Given the description of an element on the screen output the (x, y) to click on. 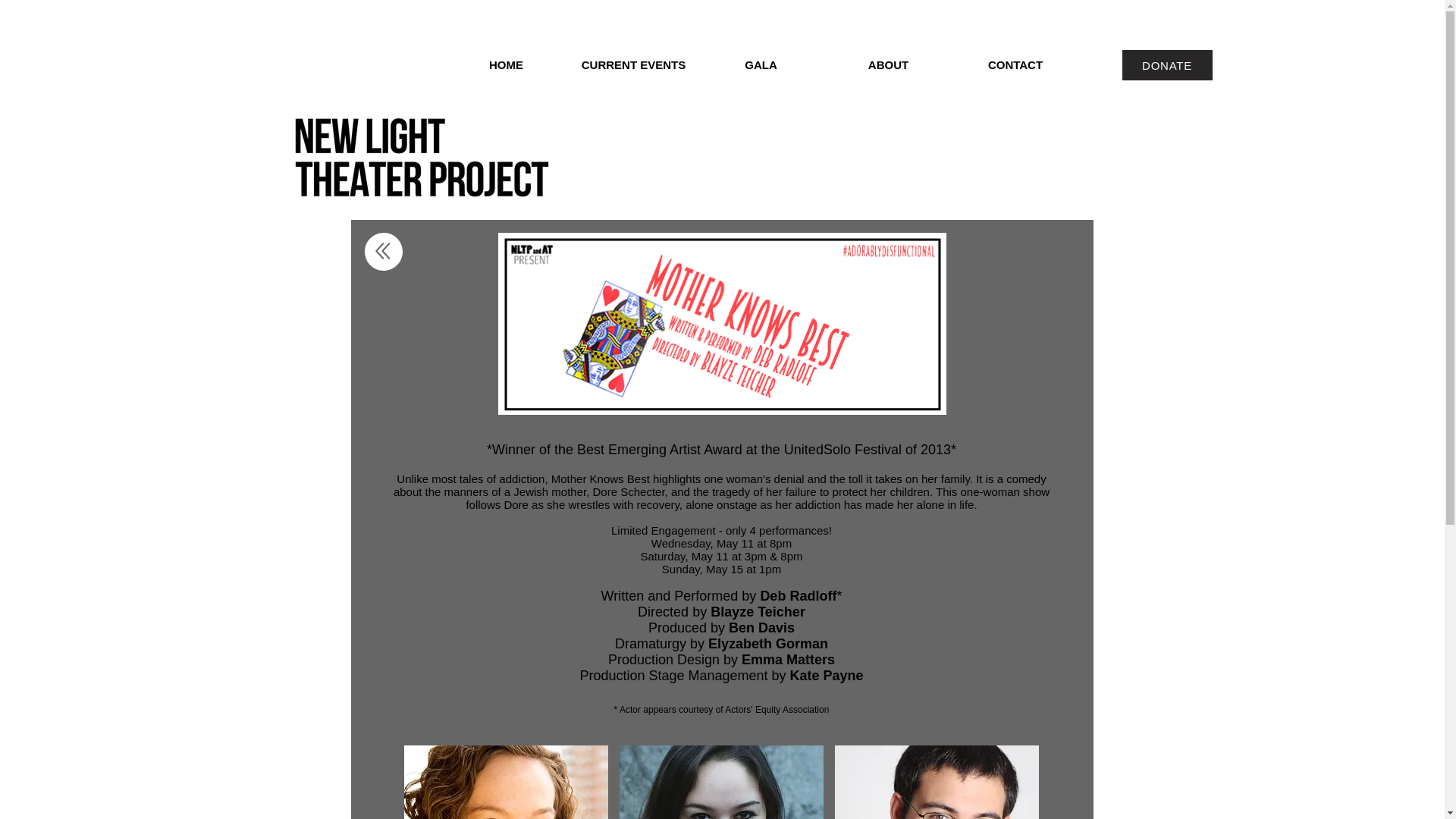
CONTACT (1015, 64)
DONATE (1167, 64)
GALA (761, 64)
589x240 MKB poster.png (720, 323)
HOME (506, 64)
